Given the description of an element on the screen output the (x, y) to click on. 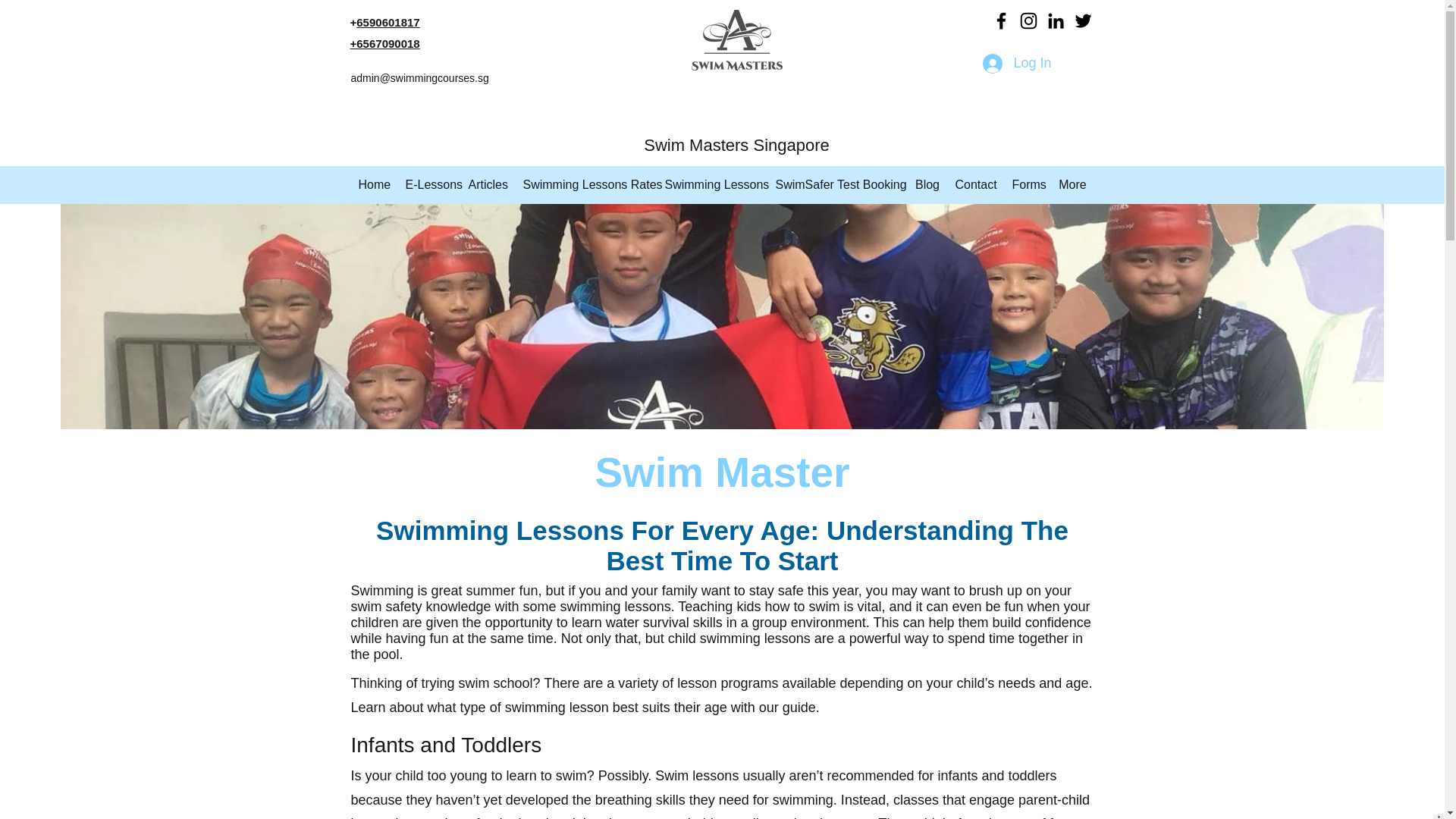
Swimming Lessons Rates (586, 184)
Log In (1016, 63)
Home (373, 184)
67090018 (394, 42)
6590601817 (387, 21)
